Given the description of an element on the screen output the (x, y) to click on. 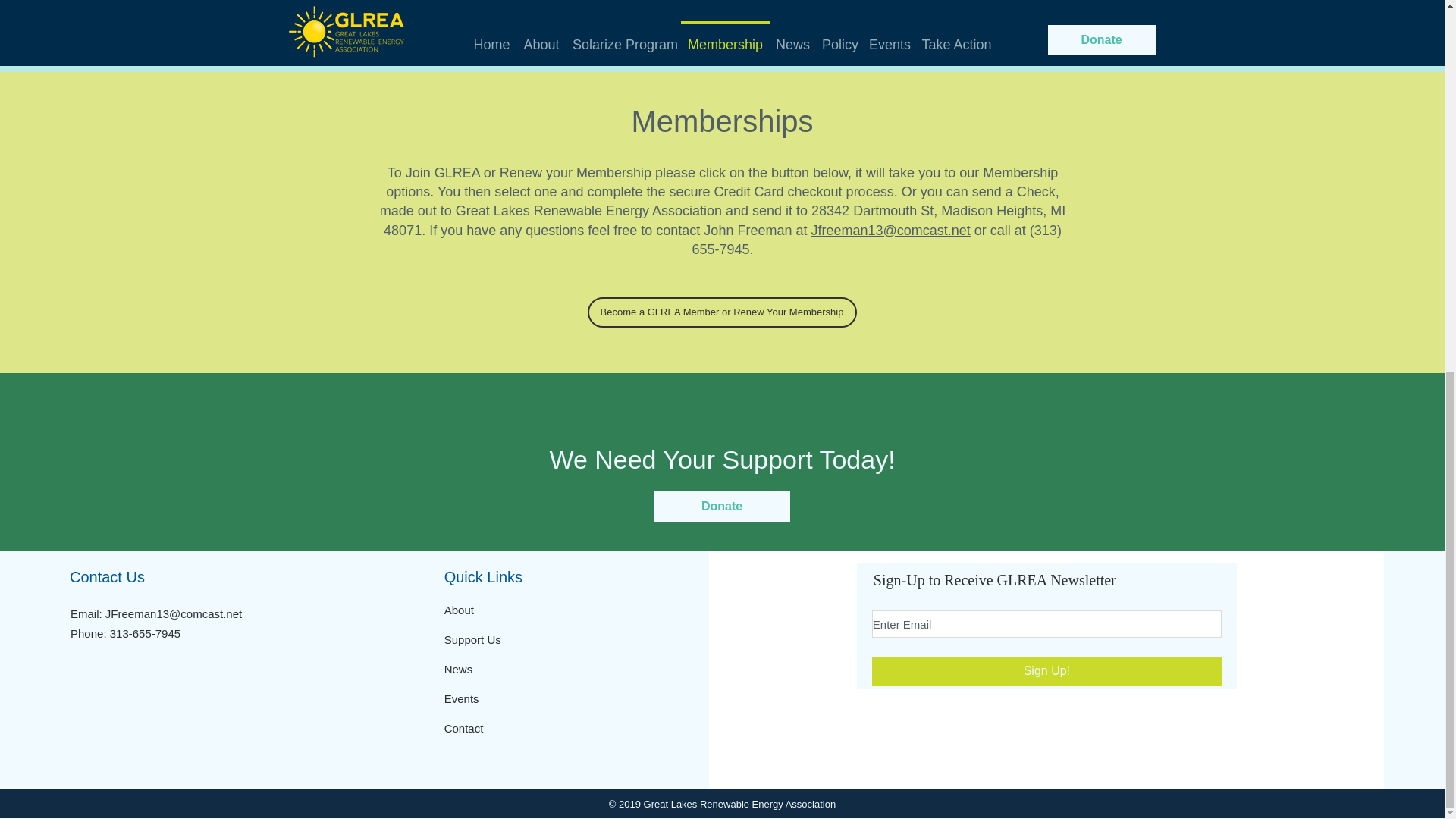
Contact (463, 727)
Donate (721, 506)
News (458, 668)
Support Us (472, 639)
Become a GLREA Member or Renew Your Membership (721, 312)
About (459, 609)
Sign Up! (1046, 670)
Events (461, 698)
